Given the description of an element on the screen output the (x, y) to click on. 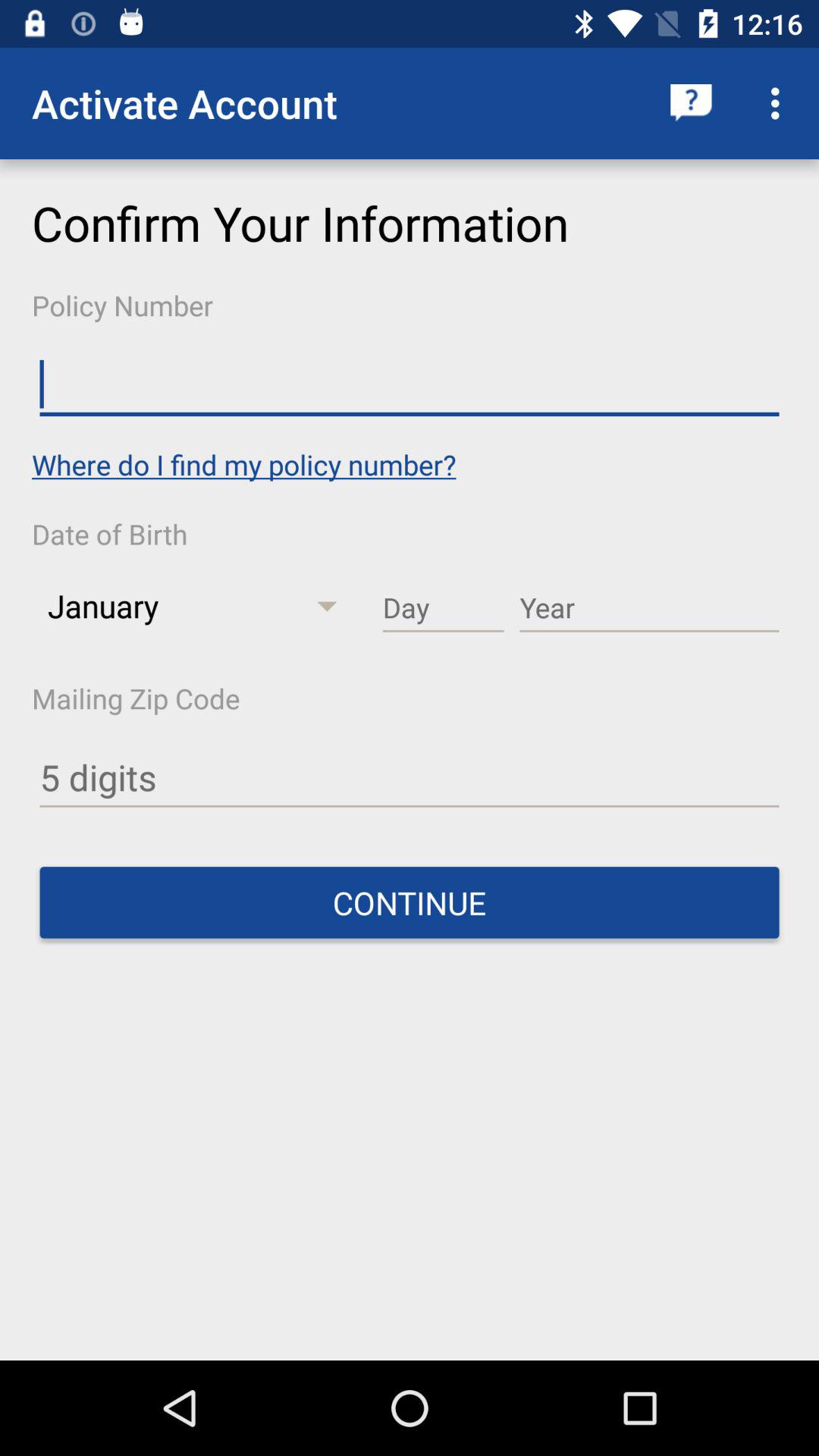
type year (649, 607)
